Given the description of an element on the screen output the (x, y) to click on. 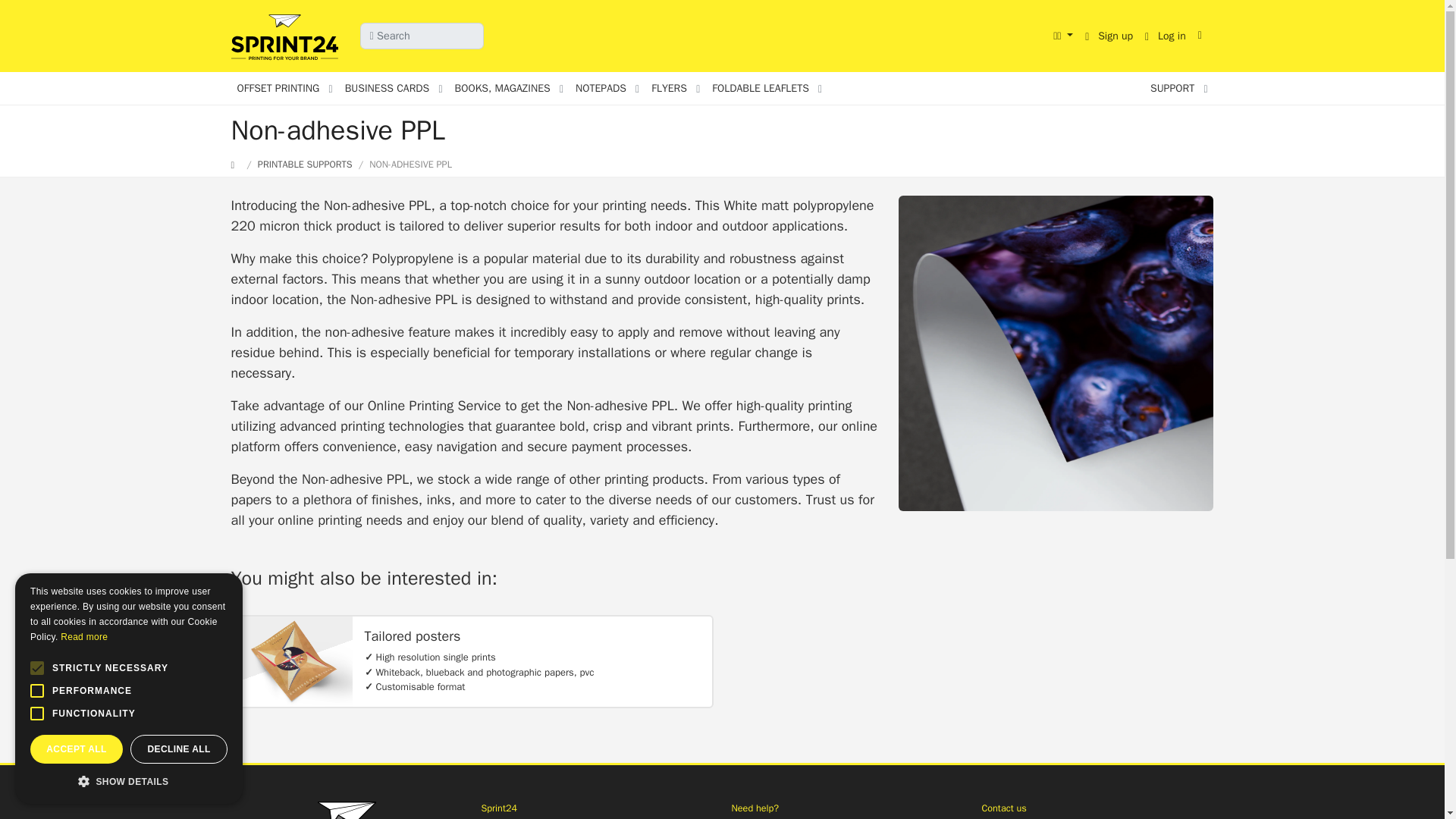
Sprint24 (286, 37)
Print tailored posters: Print Online at unbeatable prices! (291, 660)
Log in (1165, 35)
Non-adhesive PPL (1055, 353)
Shopping cart (1203, 34)
Sign up (1108, 35)
